Given the description of an element on the screen output the (x, y) to click on. 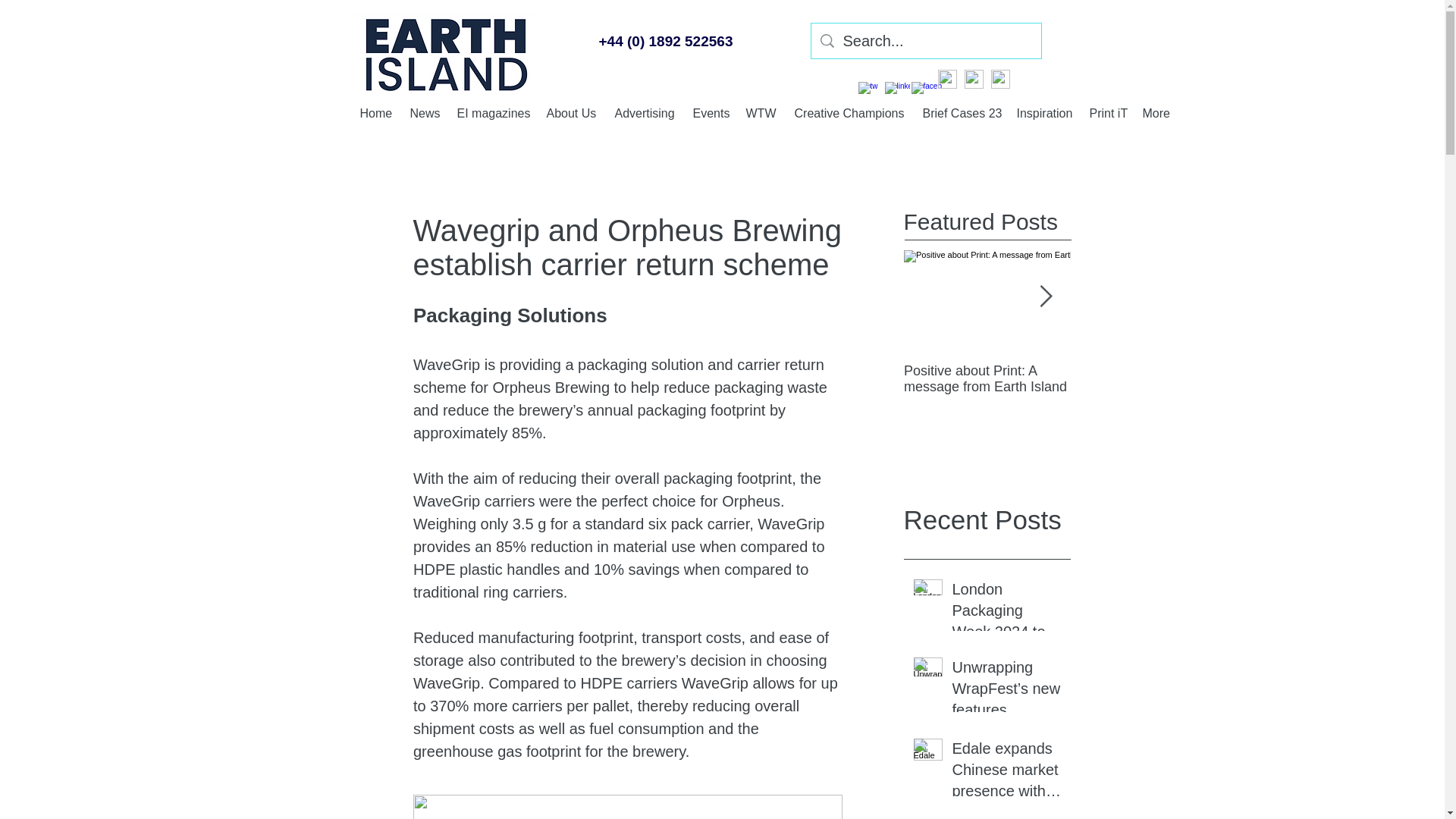
Inspiration (1045, 112)
Creative Champions (851, 112)
WTW (762, 112)
Advertising (645, 112)
Home (376, 112)
Brief Cases 23 (961, 112)
Events (711, 112)
News (424, 112)
About Us (572, 112)
Positive about Print: A message from Earth Island (1153, 377)
Positive about Print: A message from Earth Island (987, 377)
EI magazines (493, 112)
Print iT (1107, 112)
